Given the description of an element on the screen output the (x, y) to click on. 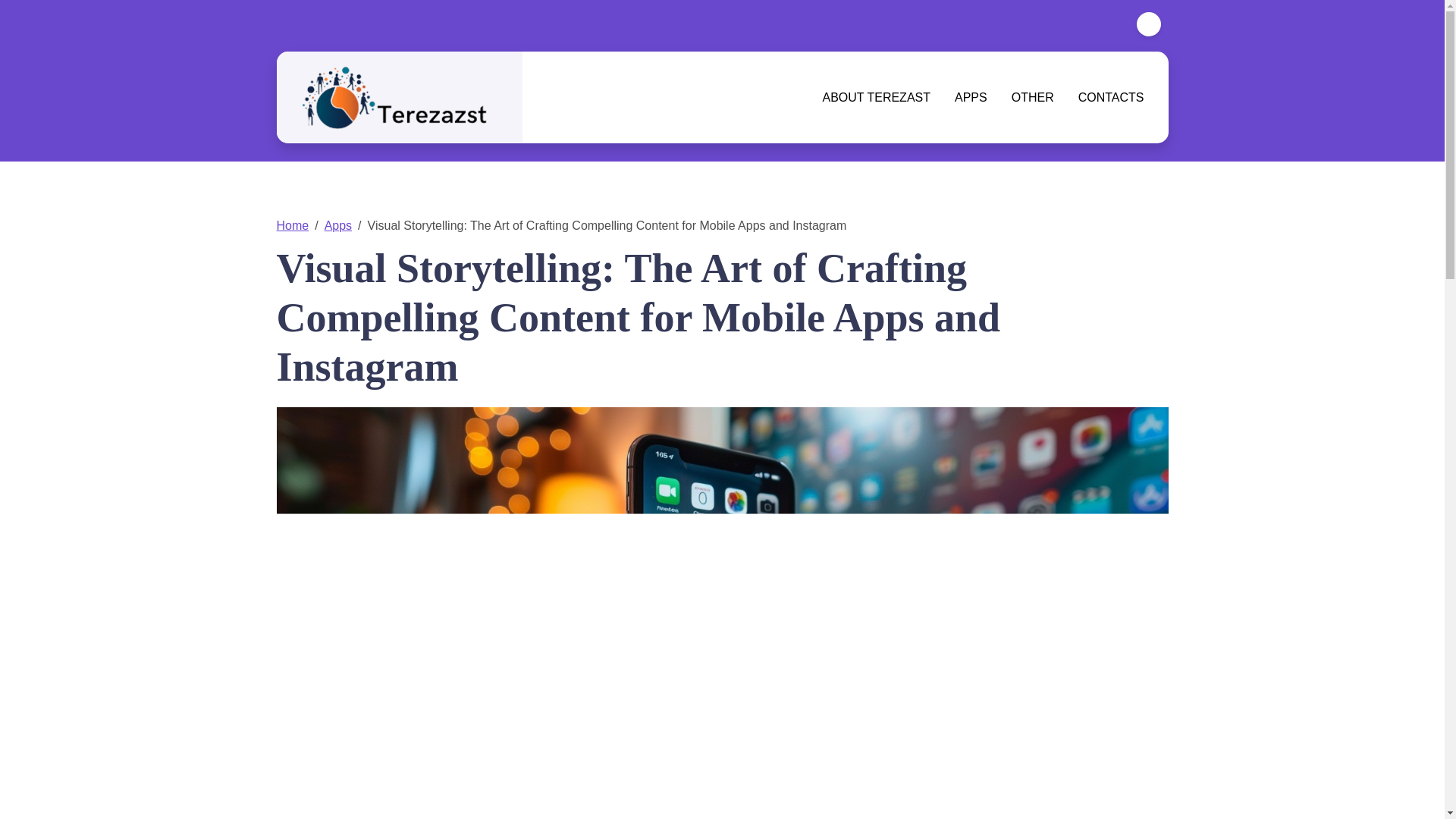
CONTACTS (1104, 97)
TEREZAST.COM (593, 75)
Home (292, 225)
Search (765, 433)
ABOUT TEREZAST (875, 97)
Apps (338, 225)
APPS (970, 97)
OTHER (1031, 97)
